Given the description of an element on the screen output the (x, y) to click on. 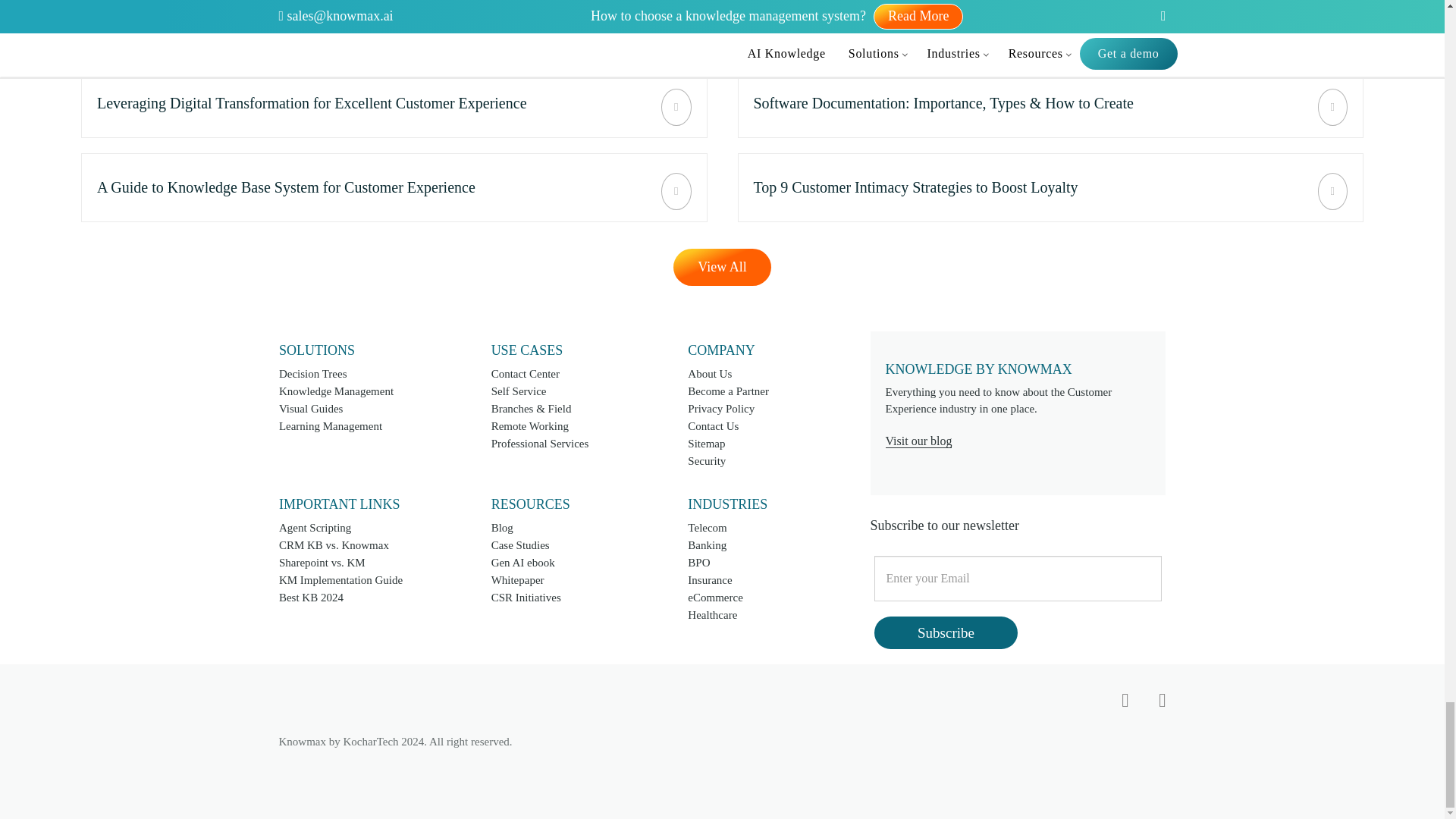
Create interactive customer service scripts with Knowmax (1049, 103)
Create interactive customer service scripts with Knowmax (394, 27)
Create interactive customer service scripts with Knowmax (1049, 27)
Create interactive customer service scripts with Knowmax (1049, 187)
Create interactive customer service scripts with Knowmax (394, 103)
Subscribe (945, 632)
Create interactive customer service scripts with Knowmax (394, 187)
